Given the description of an element on the screen output the (x, y) to click on. 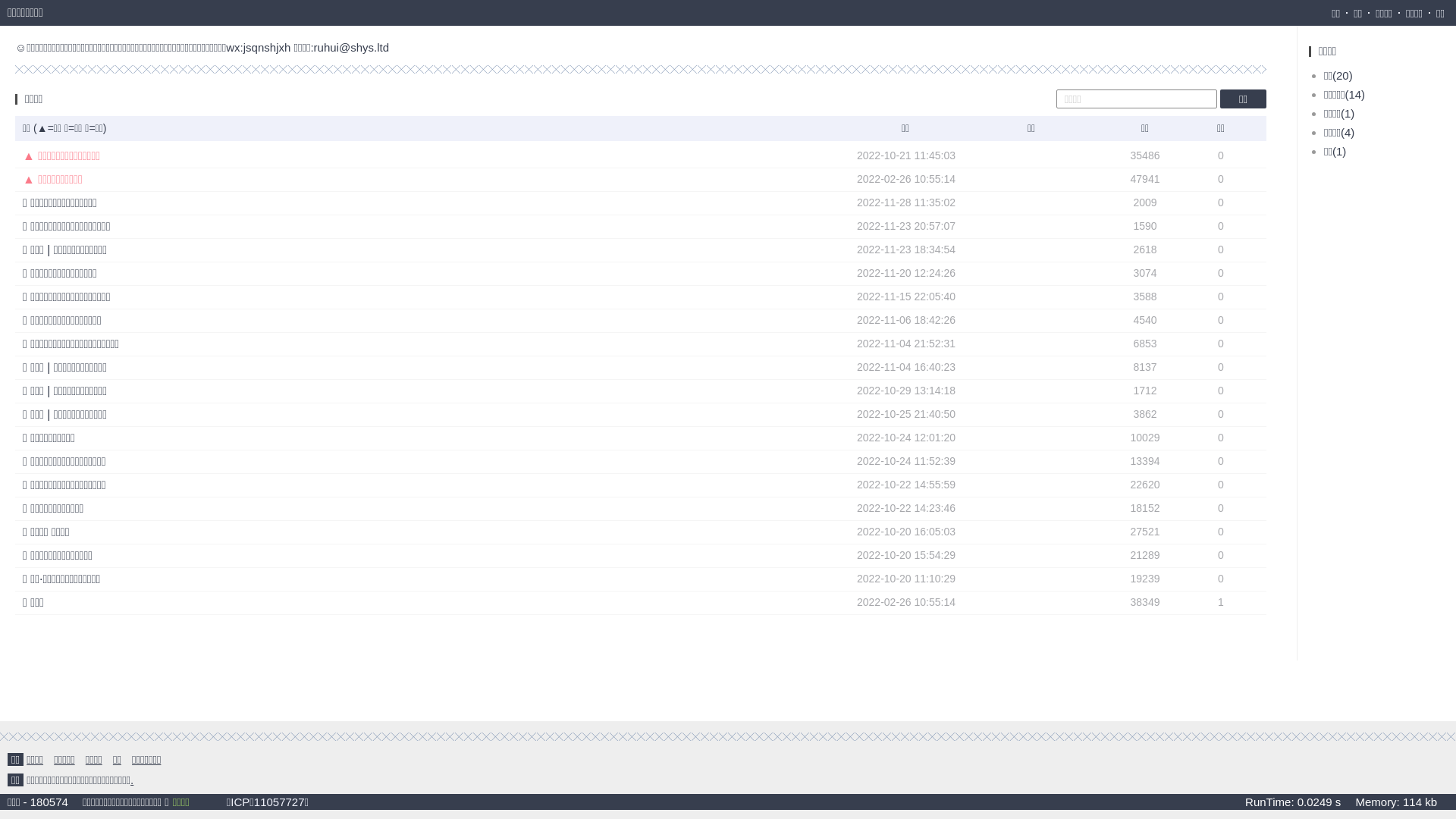
. Element type: text (131, 779)
